Given the description of an element on the screen output the (x, y) to click on. 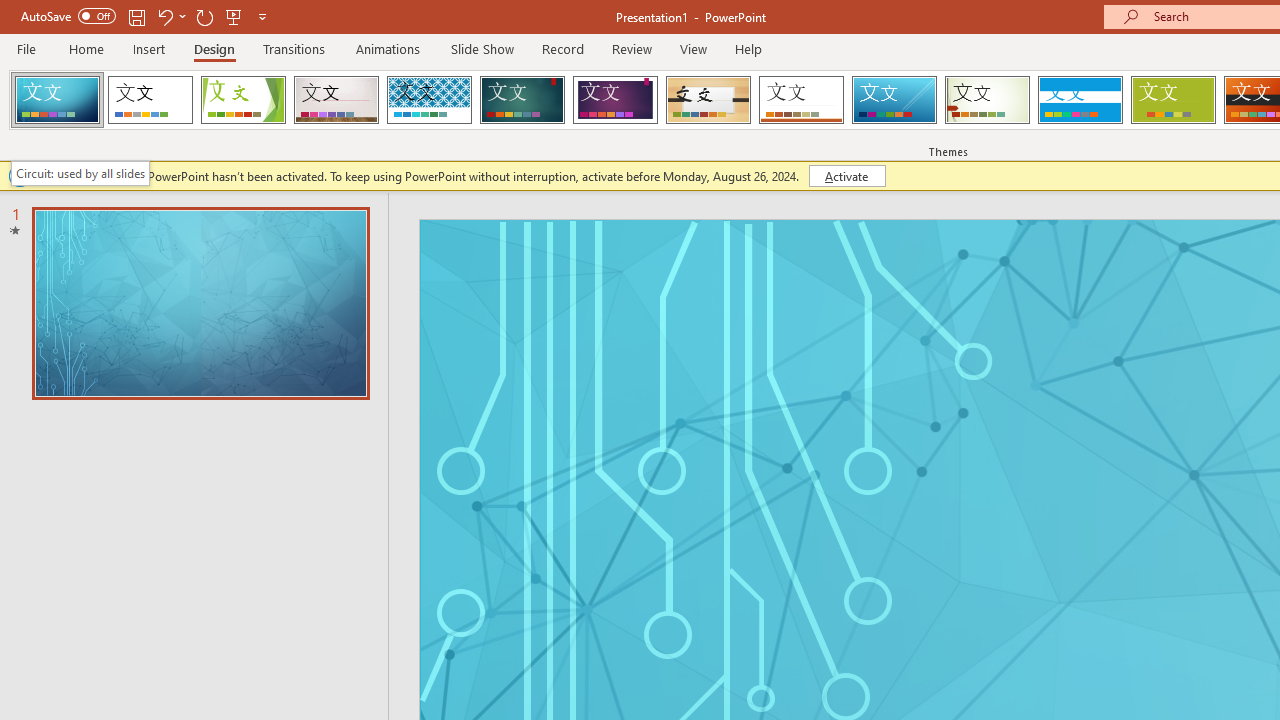
Gallery (336, 100)
Banded (1080, 100)
Office Theme (150, 100)
Ion Boardroom (615, 100)
Activate (846, 175)
Retrospect (801, 100)
FadeVTI (57, 100)
Basis (1172, 100)
